Given the description of an element on the screen output the (x, y) to click on. 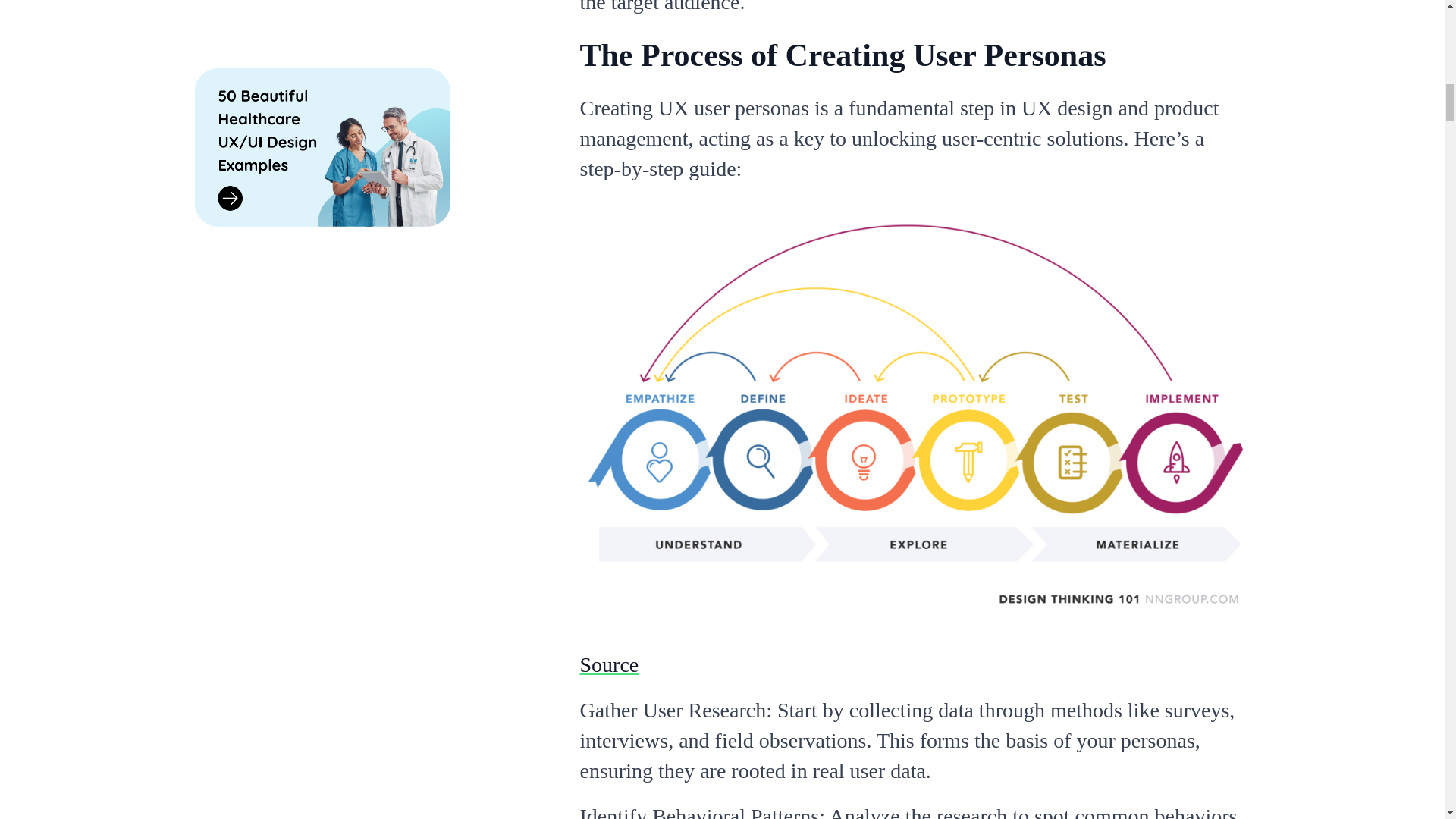
Source (609, 664)
